Given the description of an element on the screen output the (x, y) to click on. 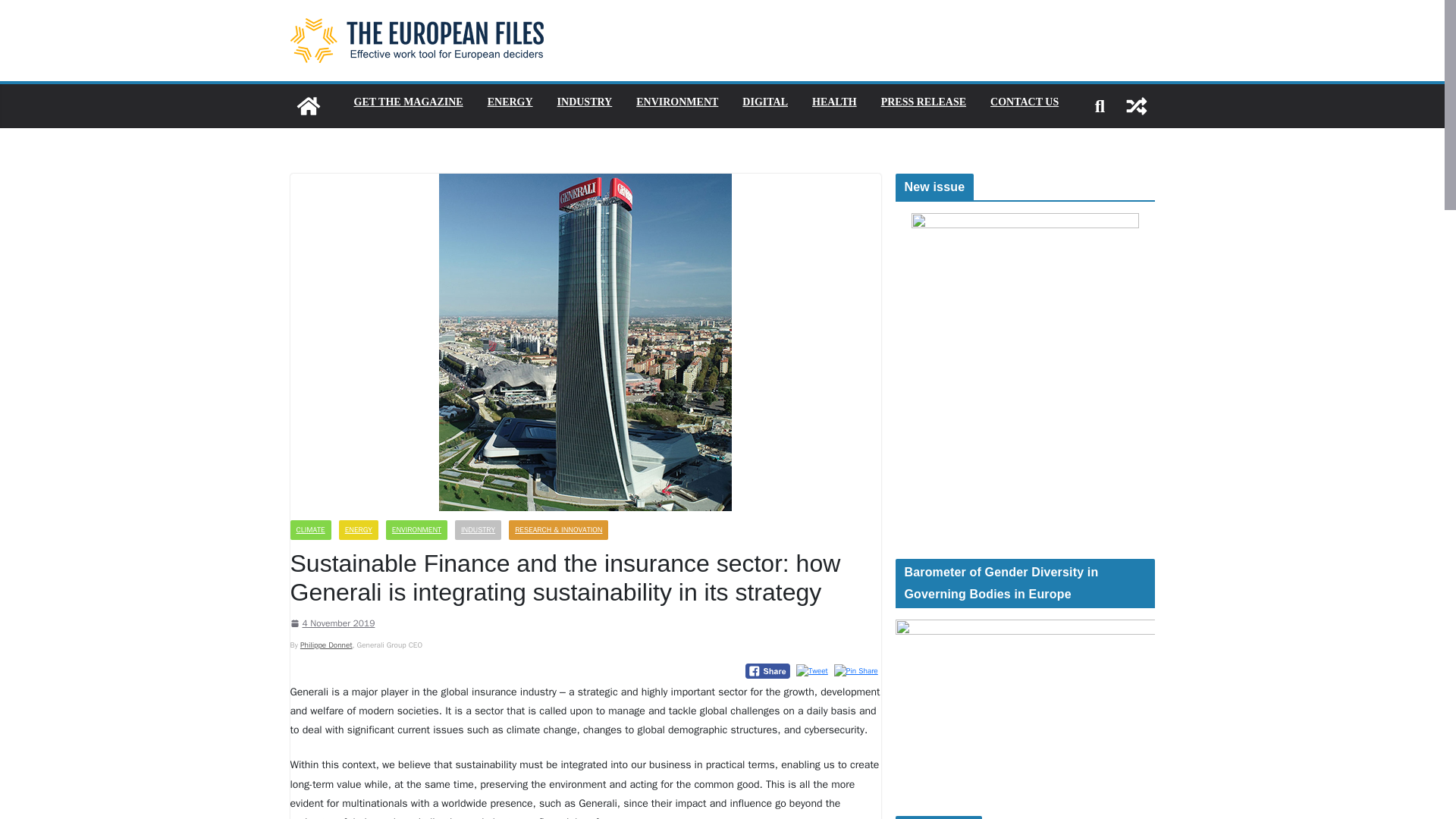
INDUSTRY (477, 529)
INDUSTRY (584, 102)
4 November 2019 (331, 622)
Pin Share (855, 671)
Facebook Share (767, 670)
10 h 32 min (331, 622)
ENVIRONMENT (676, 102)
GET THE MAGAZINE (408, 102)
View a random post (1136, 105)
PRESS RELEASE (923, 102)
